Given the description of an element on the screen output the (x, y) to click on. 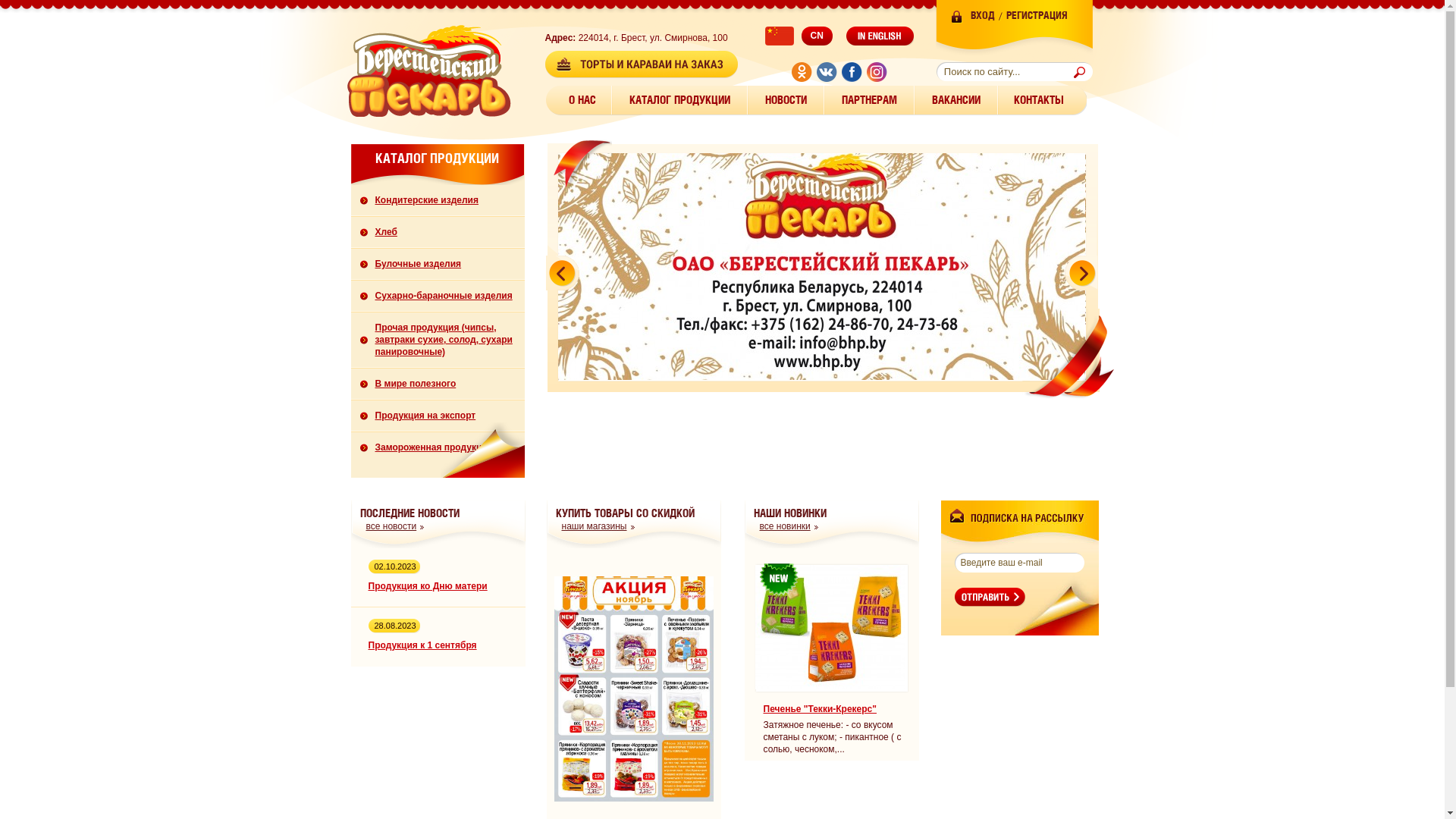
prev Element type: text (563, 271)
akcii_11 Element type: hover (632, 798)
CN Element type: text (797, 35)
next Element type: text (1080, 271)
